Given the description of an element on the screen output the (x, y) to click on. 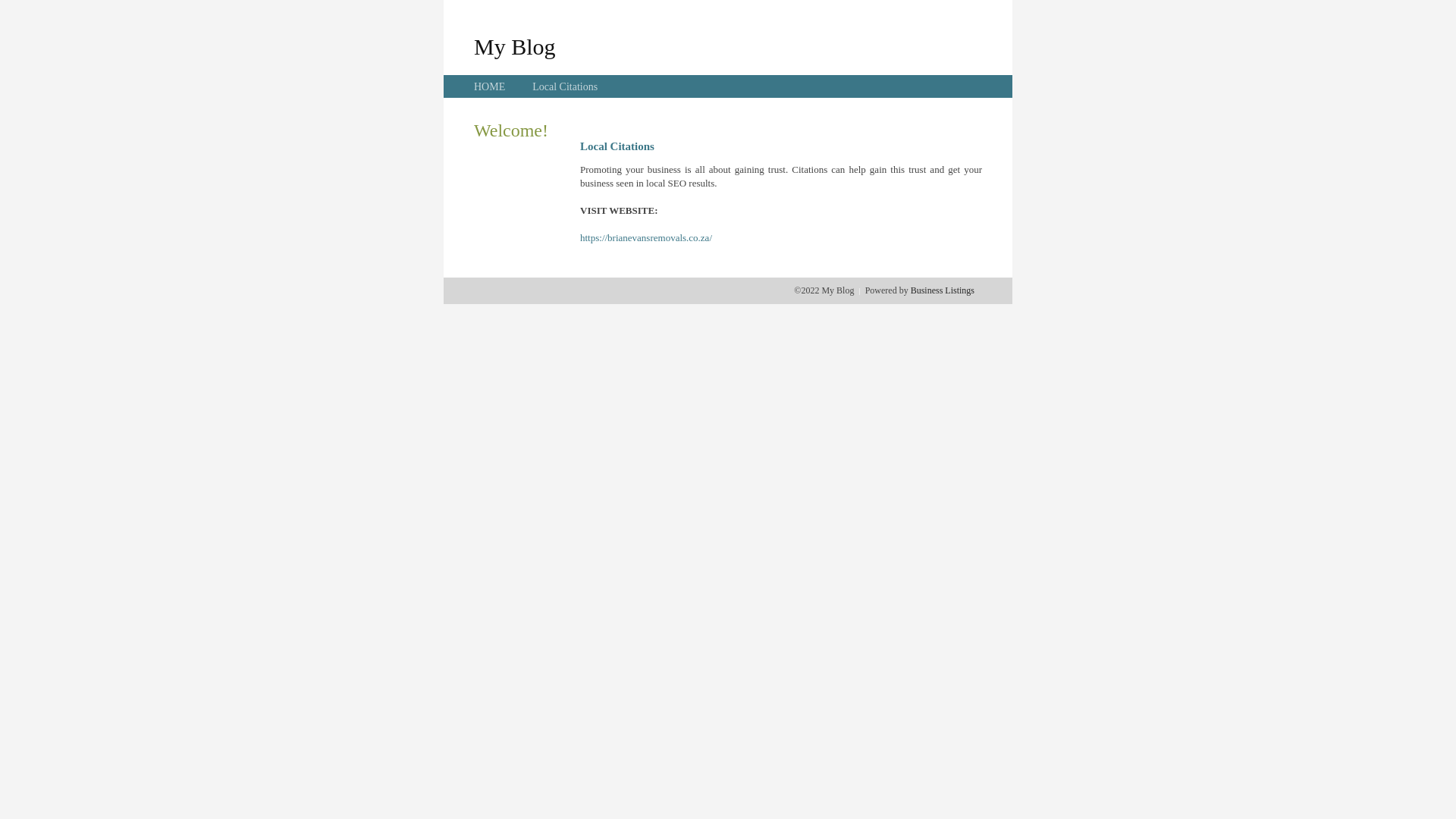
Local Citations Element type: text (564, 86)
https://brianevansremovals.co.za/ Element type: text (646, 237)
Business Listings Element type: text (942, 290)
HOME Element type: text (489, 86)
My Blog Element type: text (514, 46)
